Given the description of an element on the screen output the (x, y) to click on. 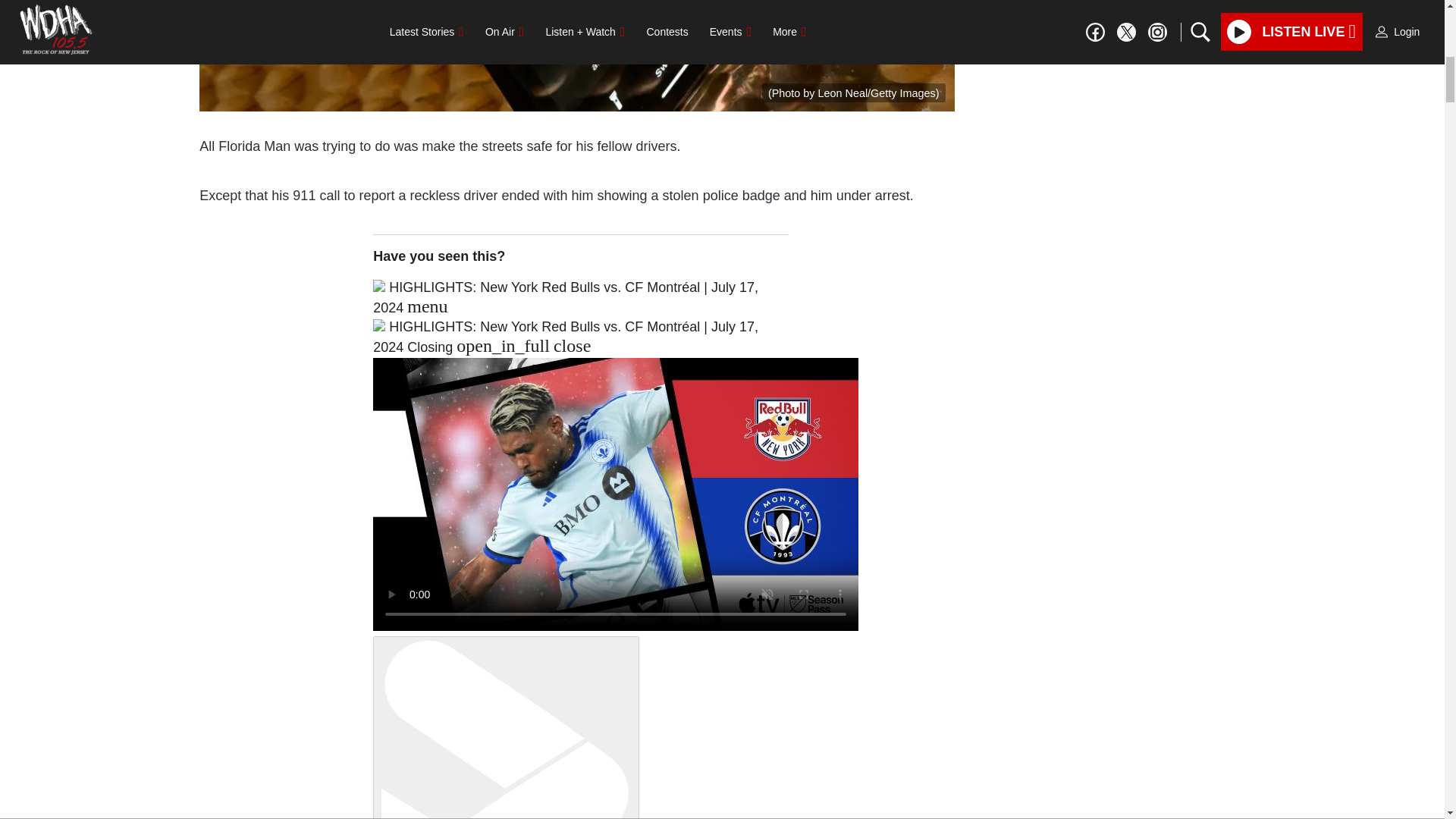
Close AdCheckmark indicating ad close (1434, 11)
